Given the description of an element on the screen output the (x, y) to click on. 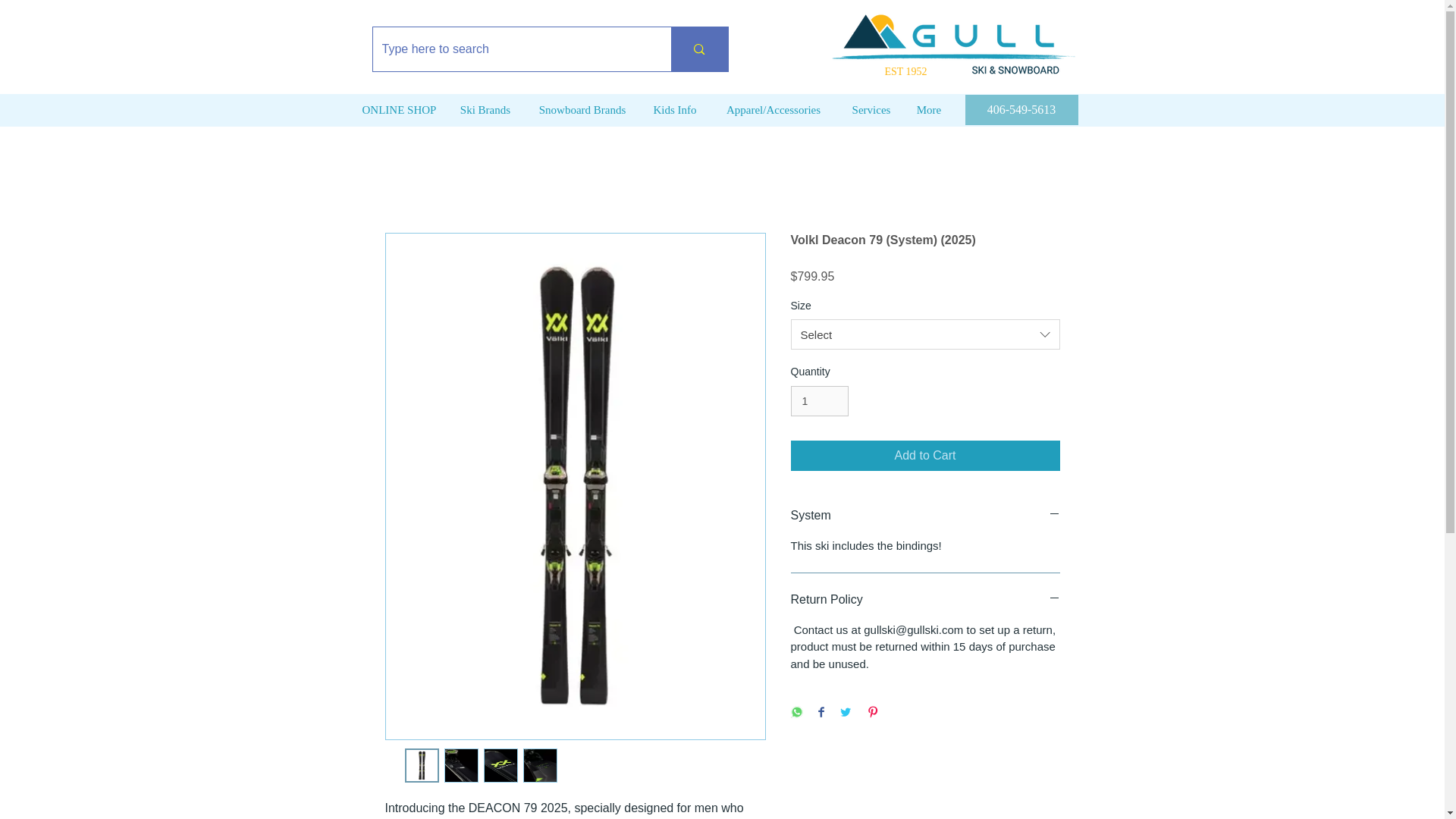
Snowboard Brands (581, 110)
ONLINE SHOP (398, 110)
Add to Cart (924, 455)
406-549-5613 (1020, 110)
Select (924, 334)
System (924, 515)
Return Policy (924, 599)
Kids Info (675, 110)
1 (818, 400)
Services (871, 110)
Ski Brands (485, 110)
